Given the description of an element on the screen output the (x, y) to click on. 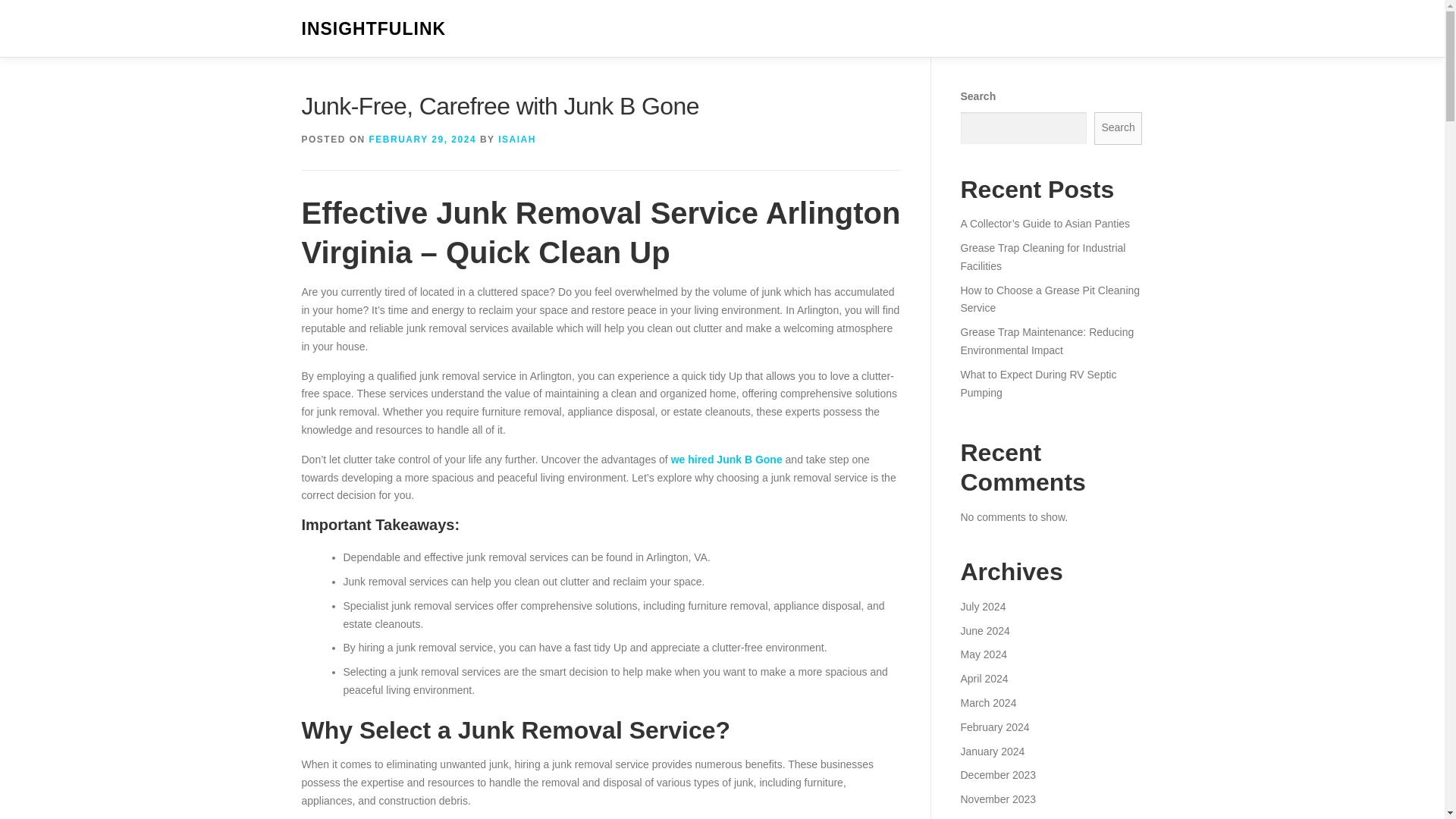
February 2024 (994, 750)
May 2024 (982, 678)
March 2024 (987, 727)
INSIGHTFULINK (373, 29)
ISAIAH (516, 139)
November 2023 (997, 818)
How to Interpret Your Septic Pump Out Report (1040, 275)
The Environmental Impact of Regular Grease Trap Cleaning (1047, 232)
January 2024 (992, 775)
FEBRUARY 29, 2024 (423, 139)
